Given the description of an element on the screen output the (x, y) to click on. 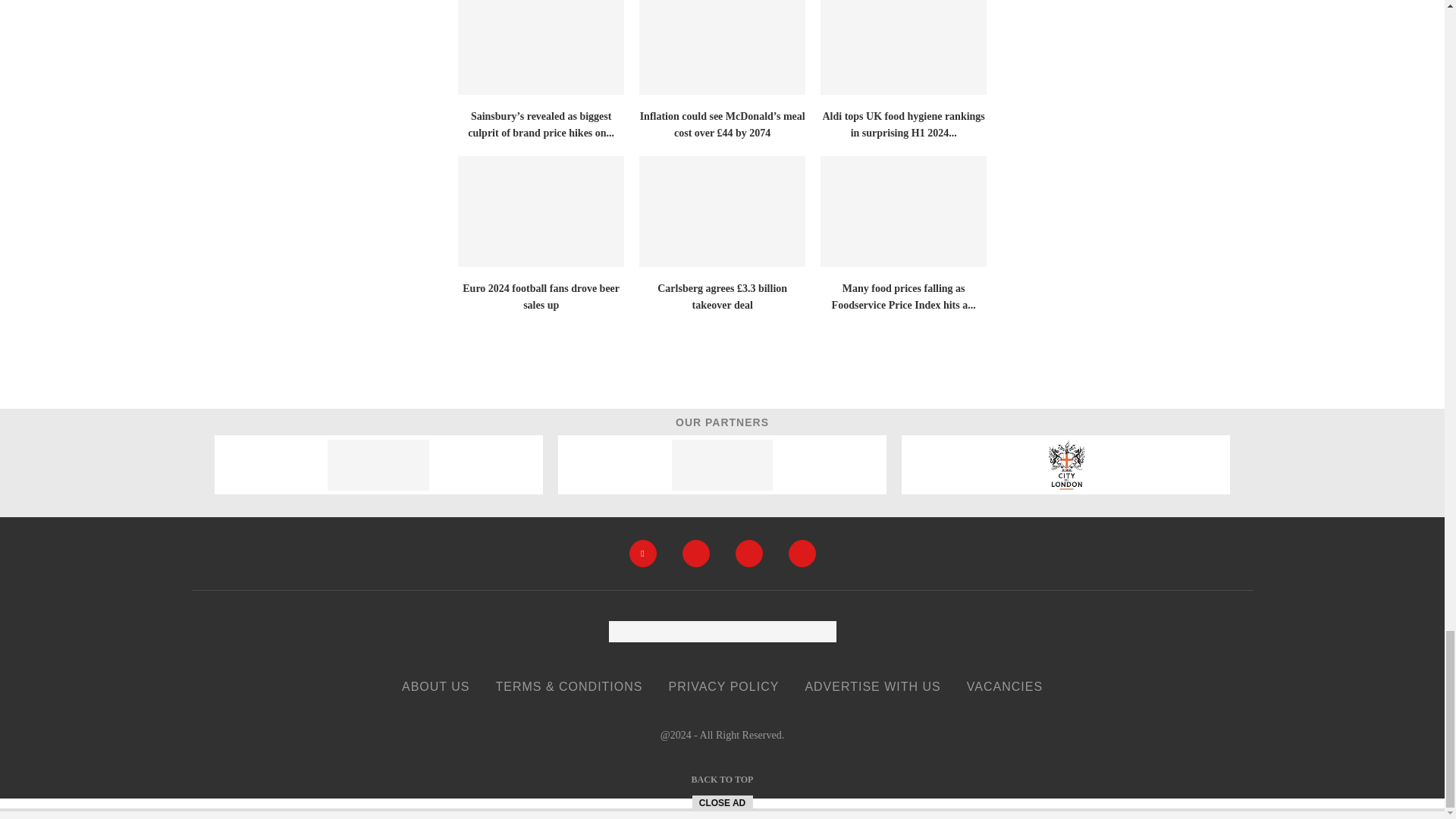
Euro 2024 football fans drove beer sales up (541, 211)
